Given the description of an element on the screen output the (x, y) to click on. 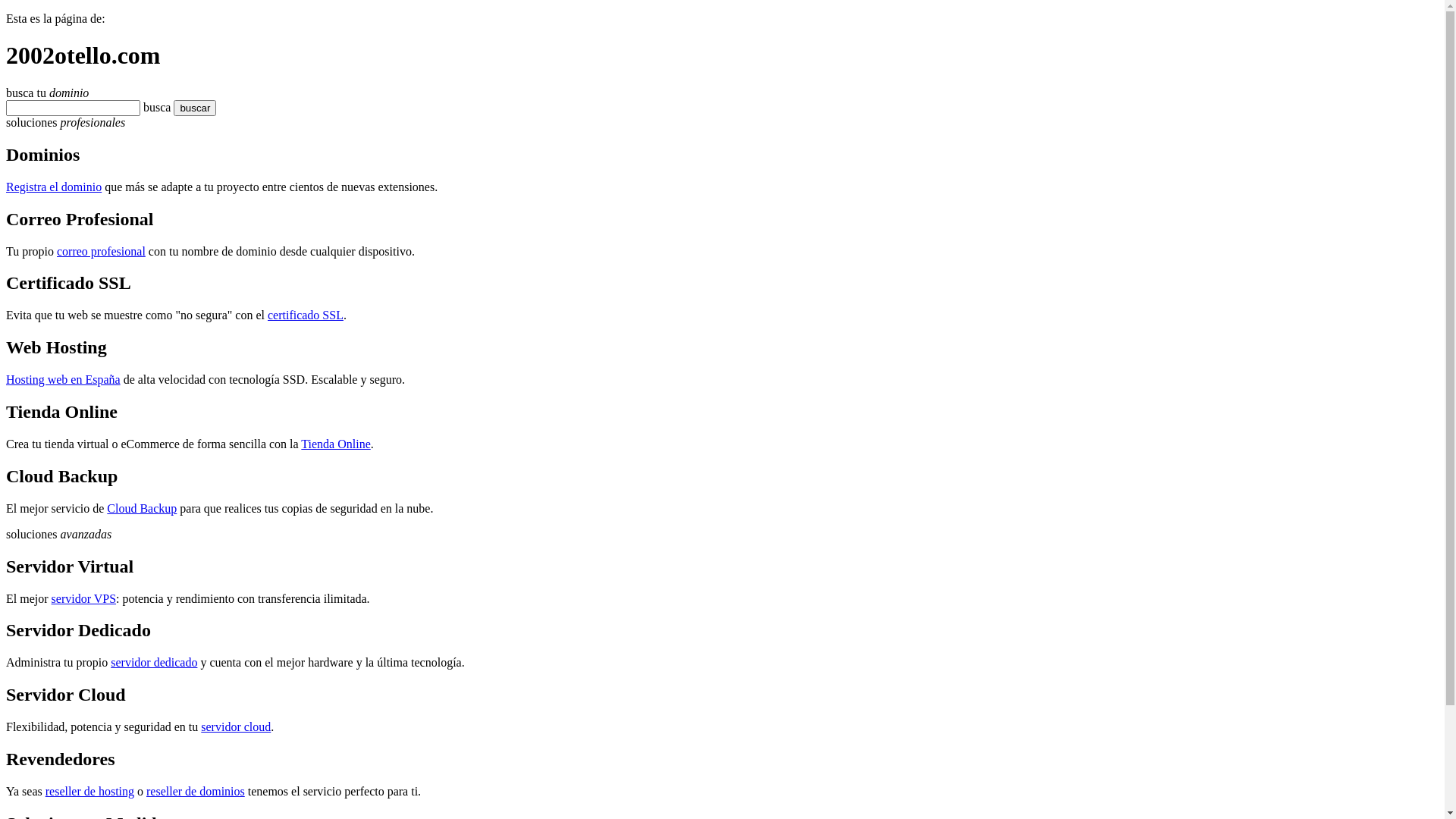
servidor cloud Element type: text (235, 726)
Tienda Online Element type: text (335, 443)
Registra el dominio Element type: text (53, 186)
Cloud Backup Element type: text (141, 508)
reseller de dominios Element type: text (195, 790)
reseller de hosting Element type: text (89, 790)
certificado SSL Element type: text (305, 314)
servidor VPS Element type: text (83, 598)
servidor dedicado Element type: text (153, 661)
correo profesional Element type: text (100, 250)
buscar Element type: text (179, 108)
